Given the description of an element on the screen output the (x, y) to click on. 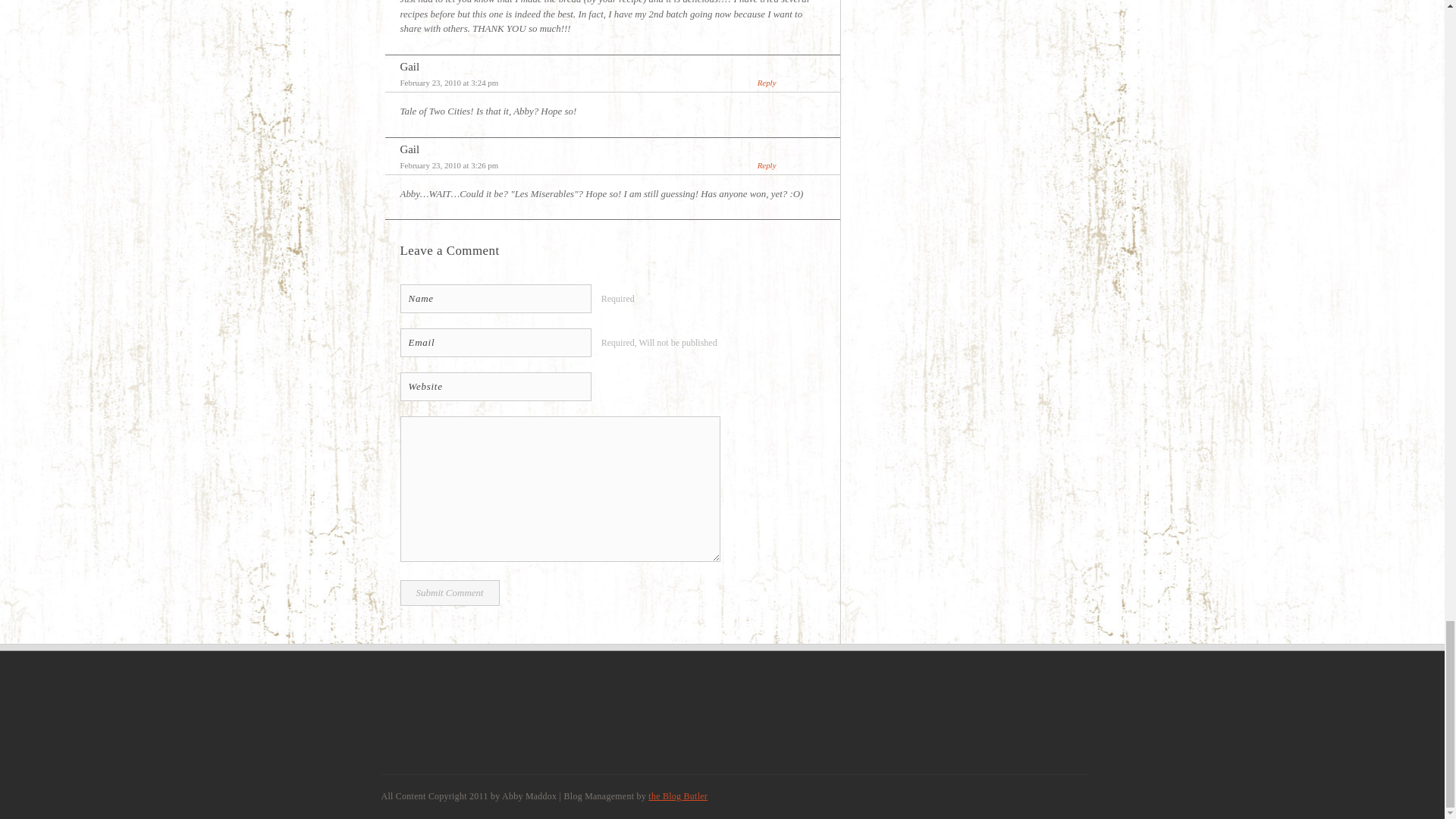
Name (495, 298)
Website (495, 386)
Name (495, 298)
Email (495, 342)
Email (495, 342)
Submit Comment (449, 592)
Website (495, 386)
